Given the description of an element on the screen output the (x, y) to click on. 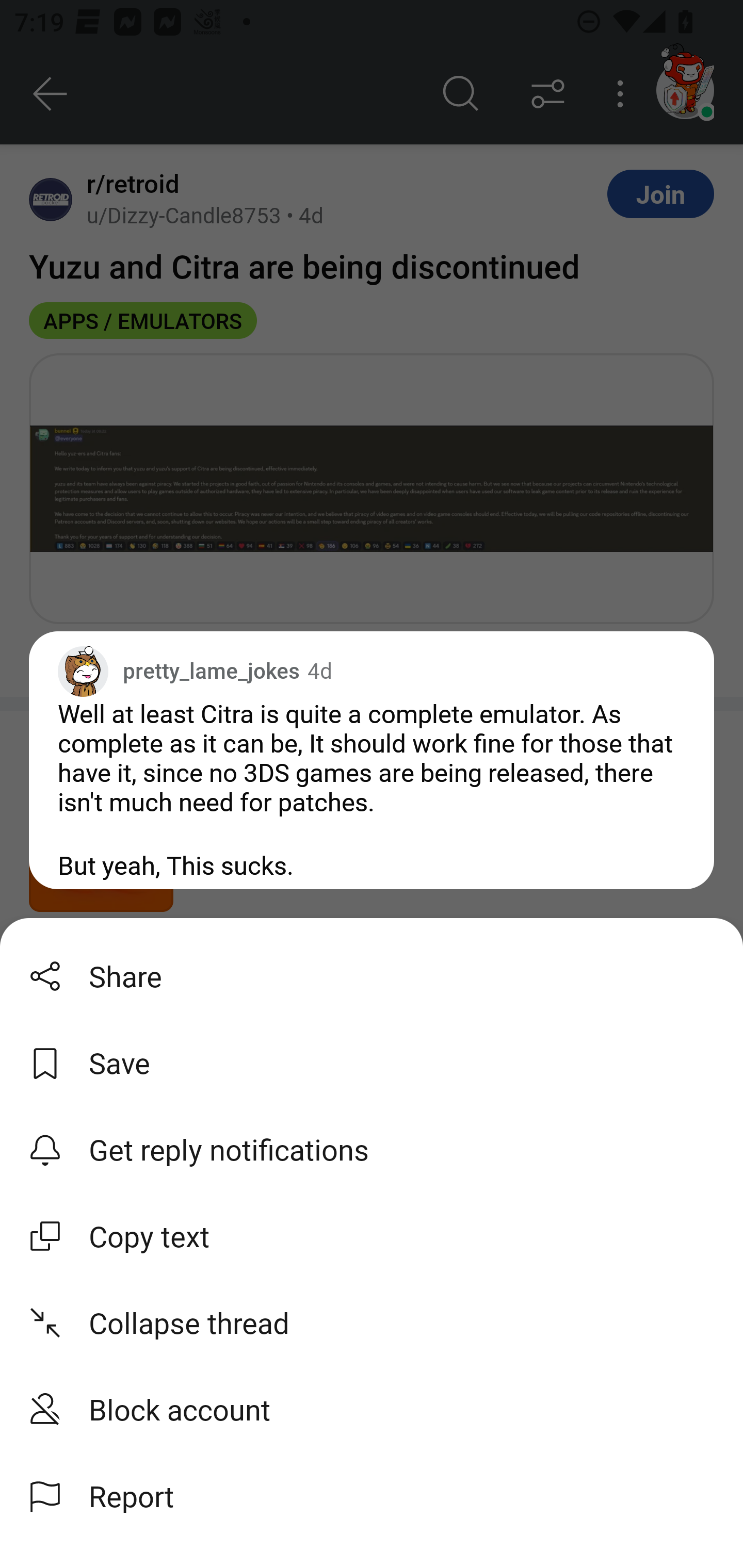
Share (371, 975)
Save (371, 1062)
Get reply notifications (371, 1149)
Copy text (371, 1236)
Collapse thread (371, 1322)
Block account (371, 1408)
Report (371, 1495)
